Given the description of an element on the screen output the (x, y) to click on. 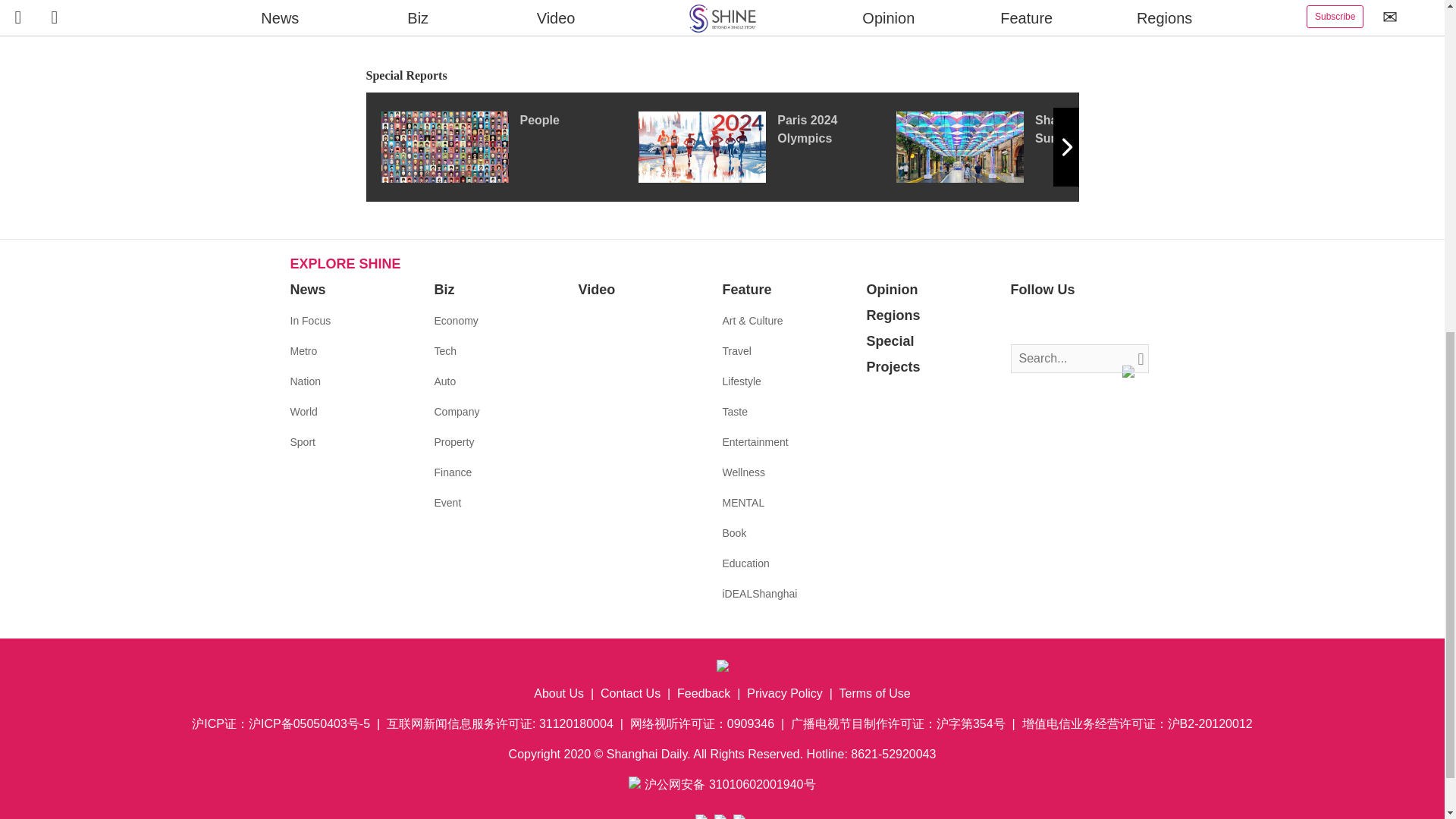
Sport (301, 441)
Follow us on Instagram (1067, 321)
Shanghai Summer (1024, 146)
Metro (303, 350)
Follow us on Wechat (1112, 321)
In Focus (309, 320)
Special Reports (721, 76)
Paris 2024 Olympics (767, 146)
People (508, 146)
World (303, 411)
News (306, 289)
Follow us on Facebook (1021, 321)
Nation (304, 381)
Follow us on Youtube (1090, 321)
Follow us on Twitter (1044, 321)
